Given the description of an element on the screen output the (x, y) to click on. 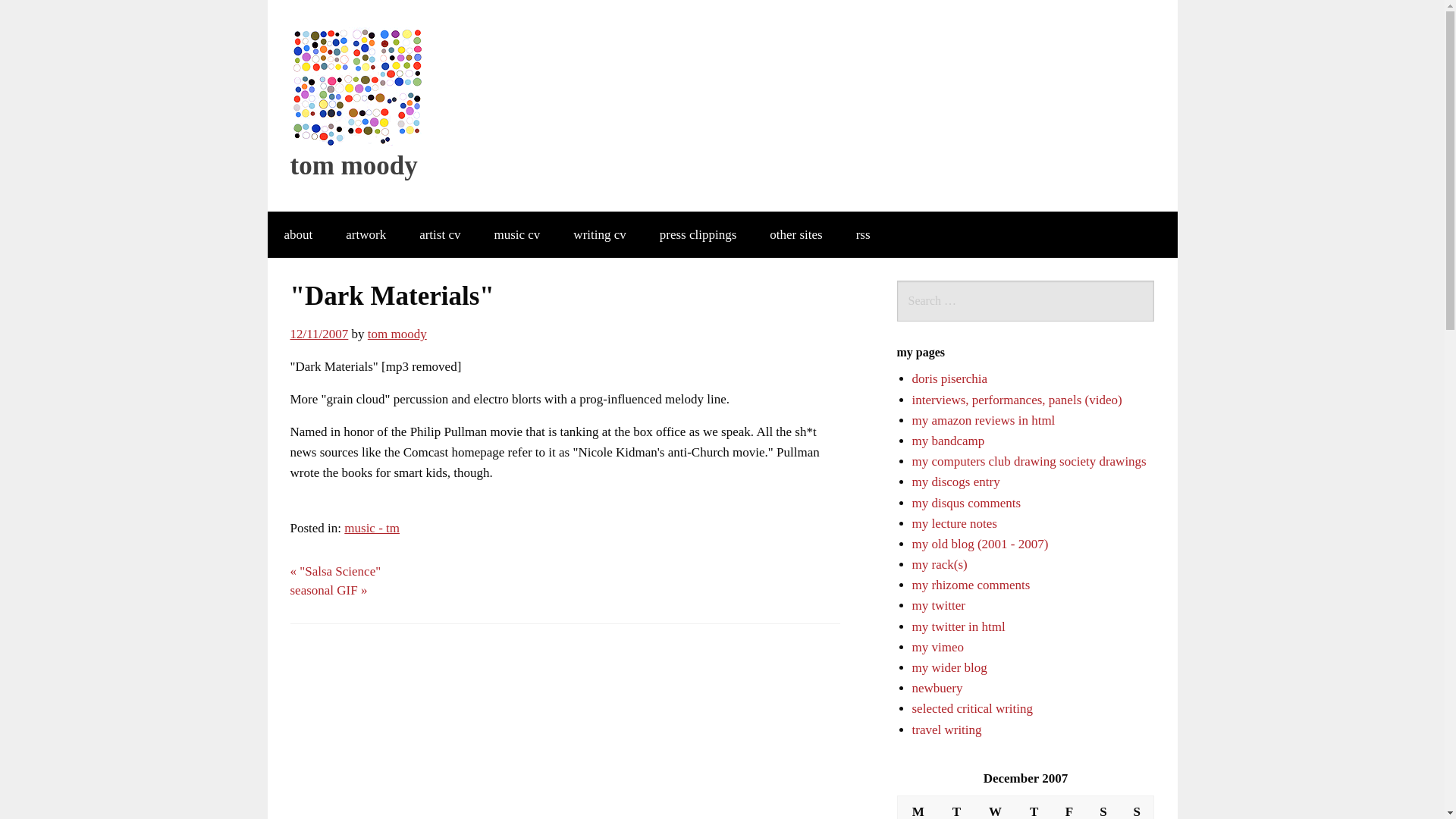
12:08 am (318, 333)
Tuesday (956, 807)
View all posts by tom moody (397, 333)
Saturday (1102, 807)
Wednesday (995, 807)
Thursday (1033, 807)
Monday (917, 807)
tom moody (357, 84)
Sunday (1136, 807)
Friday (1068, 807)
